Given the description of an element on the screen output the (x, y) to click on. 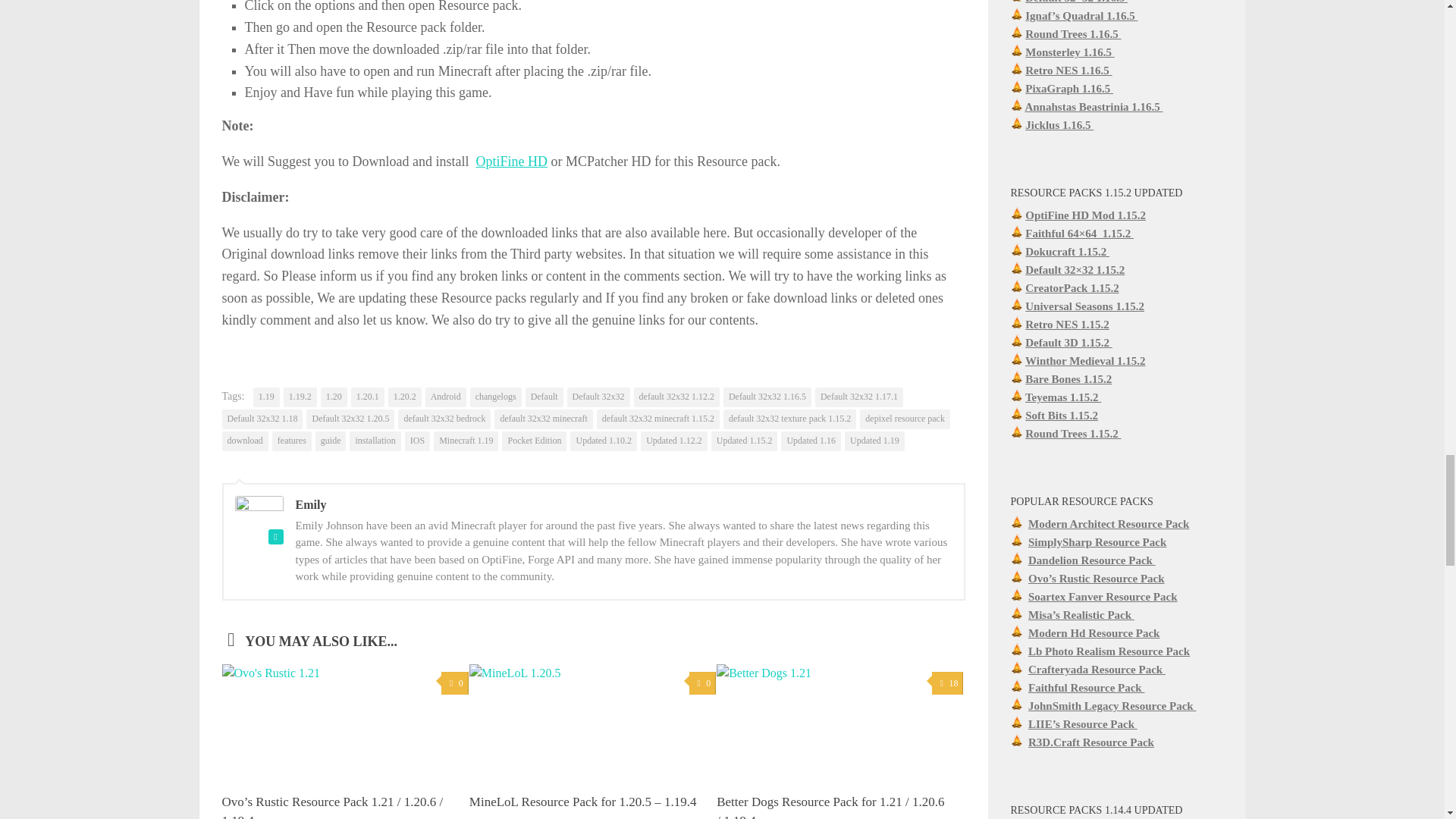
1.19 (266, 397)
OptiFine HD (512, 160)
1.20.2 (405, 397)
1.19.2 (300, 397)
1.20.1 (367, 397)
Android (445, 397)
changelogs (495, 397)
Default 32x32 (598, 397)
Default (544, 397)
1.20 (333, 397)
